Given the description of an element on the screen output the (x, y) to click on. 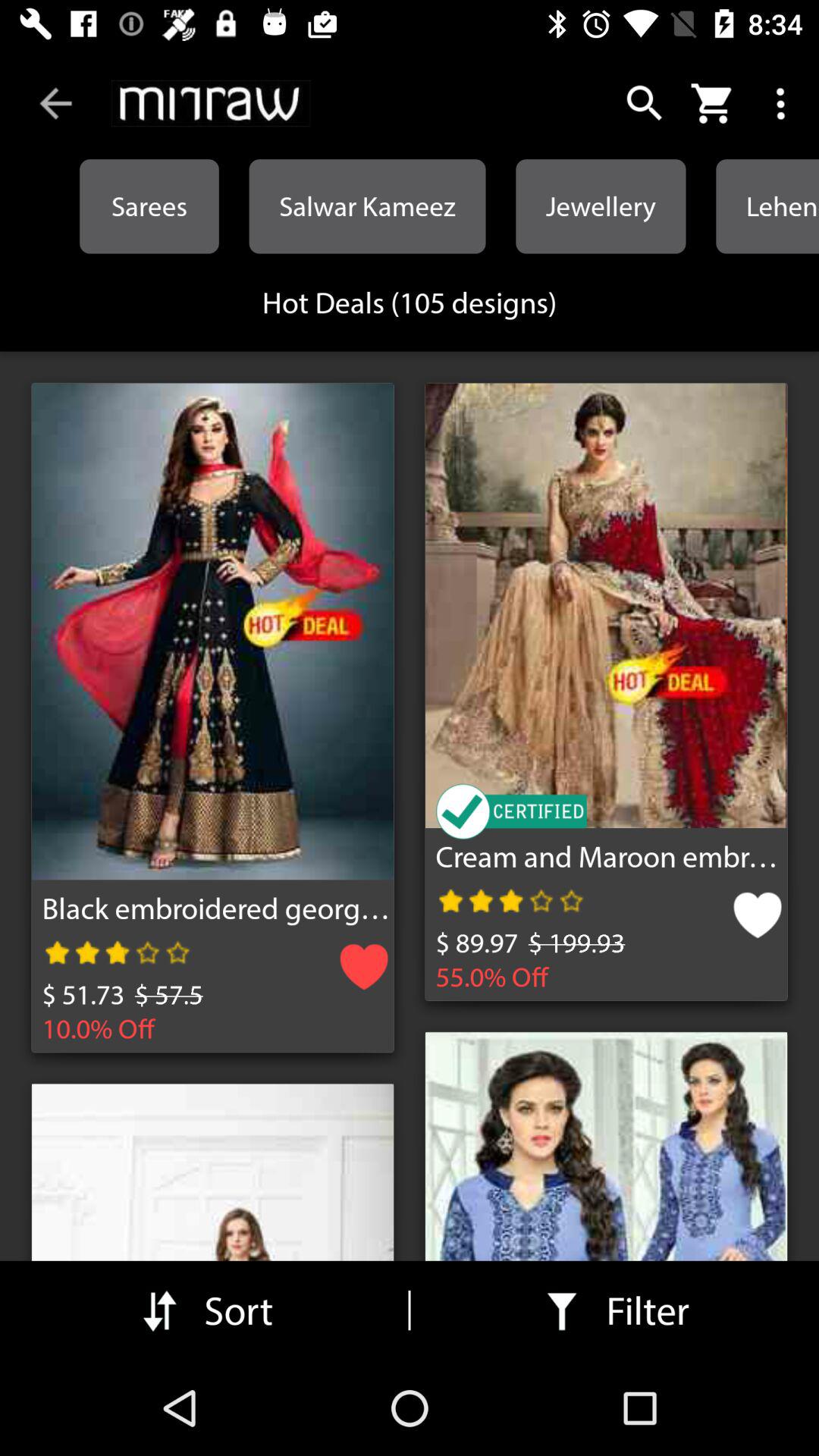
turn off item above lehengas item (783, 103)
